Given the description of an element on the screen output the (x, y) to click on. 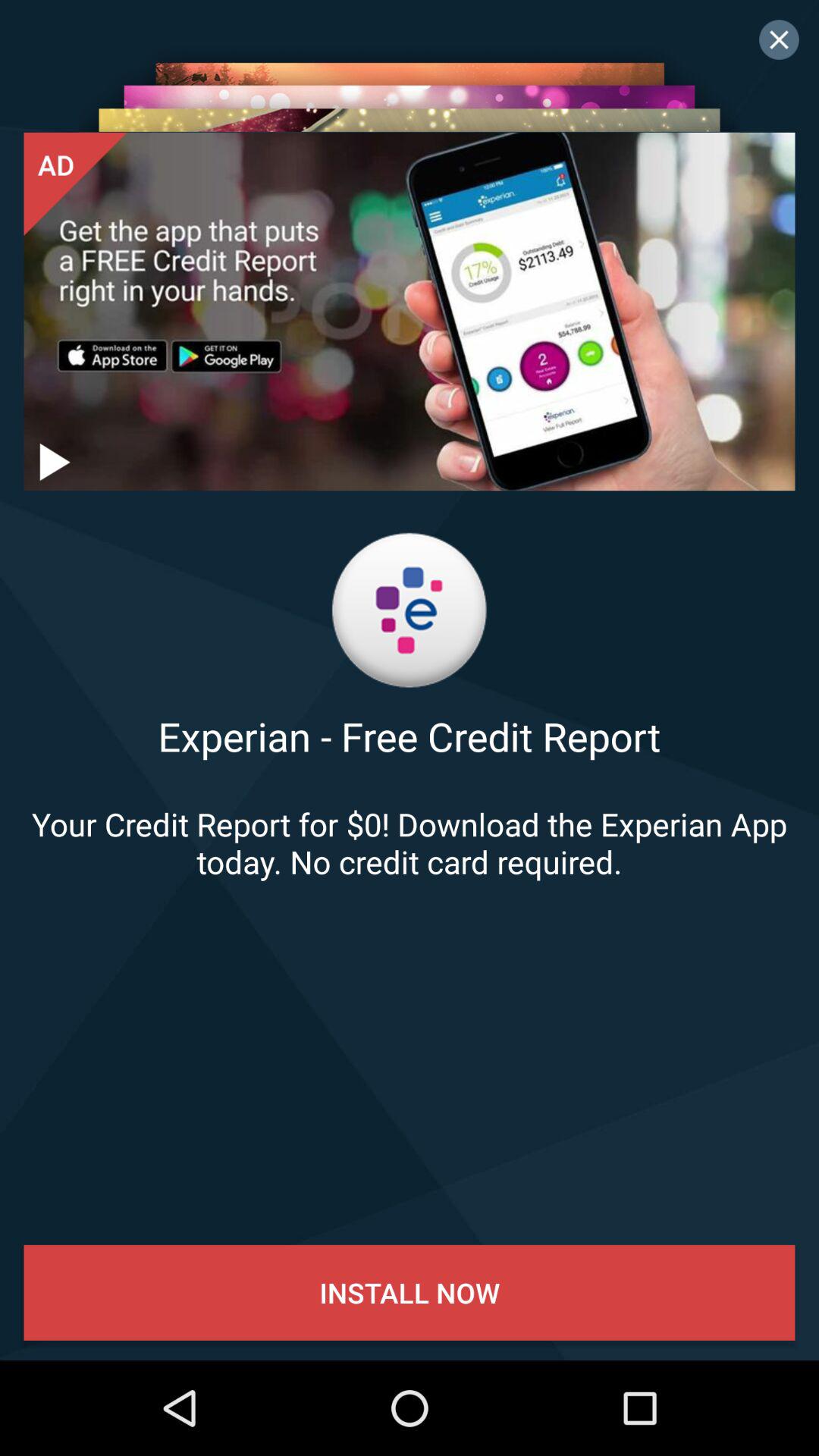
click app above experian free credit icon (52, 461)
